Given the description of an element on the screen output the (x, y) to click on. 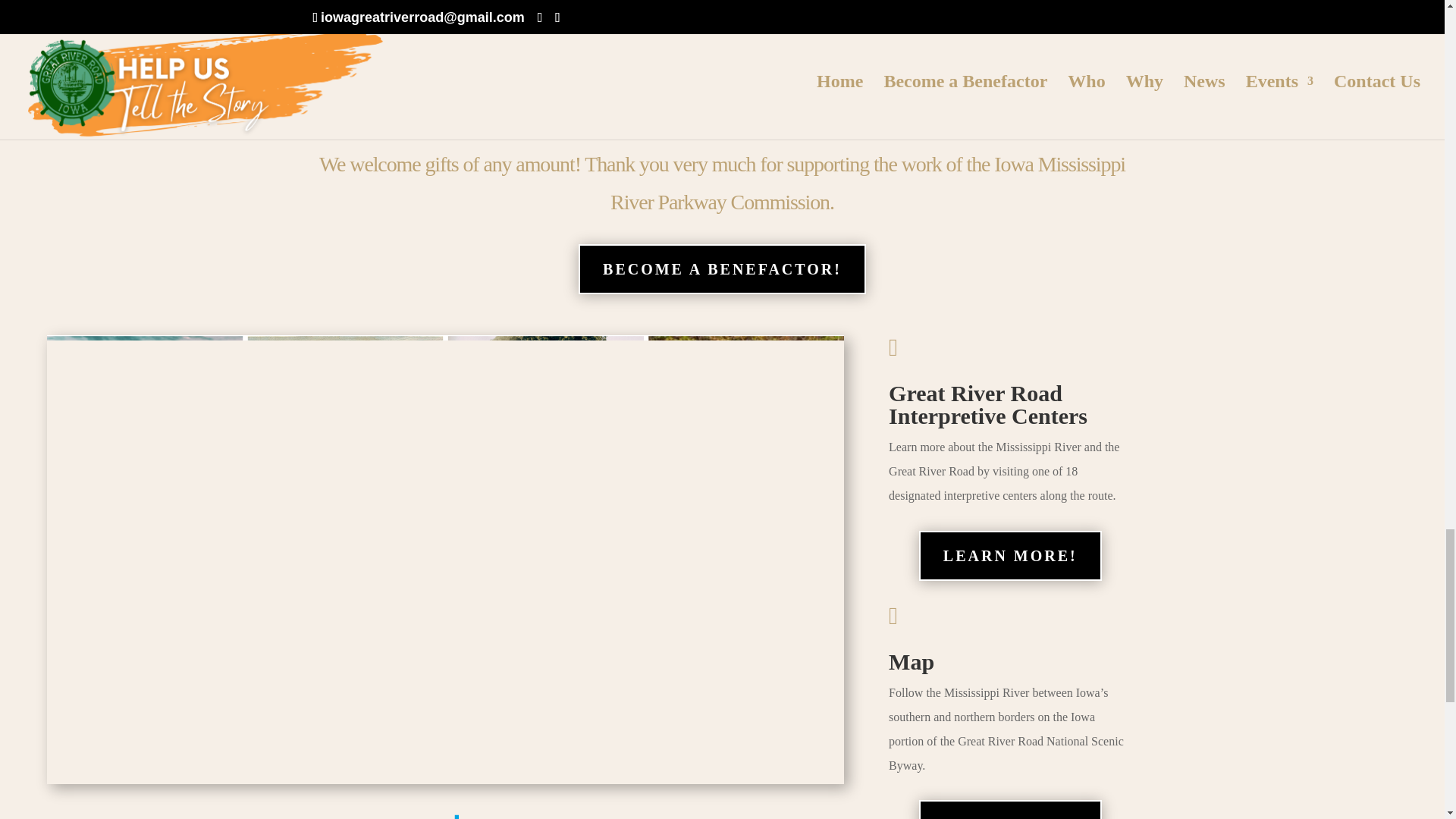
Great River Road Interpretive Centers (987, 404)
LEARN MORE! (1010, 555)
Map (911, 661)
LEARN MORE! (1010, 809)
BECOME A BENEFACTOR! (722, 269)
